Given the description of an element on the screen output the (x, y) to click on. 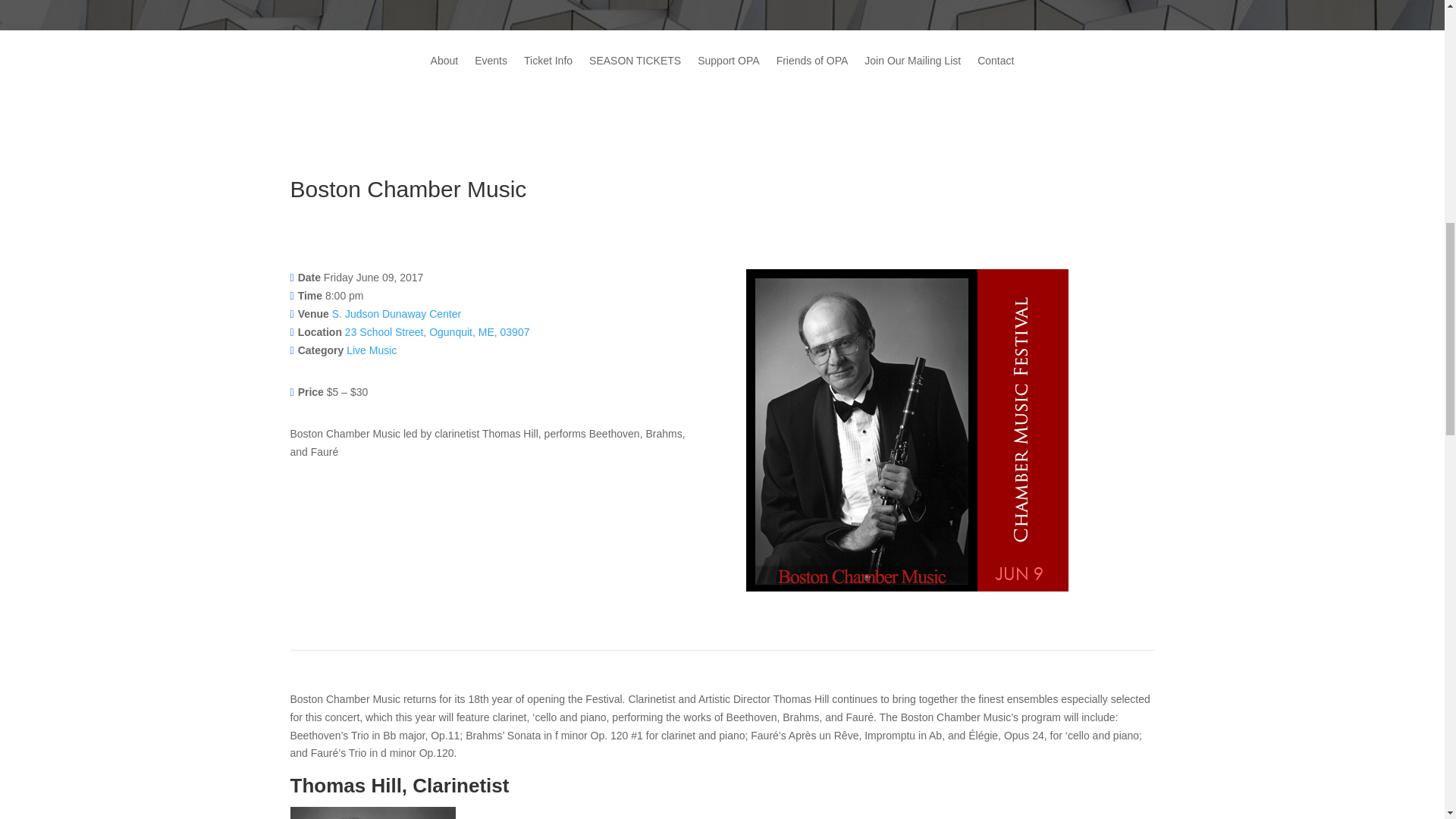
Ticket Info (548, 71)
Join Our Mailing List (912, 71)
Live Music (371, 349)
Contact (994, 71)
SEASON TICKETS (635, 71)
Support OPA (727, 71)
Boston Chamber Music (906, 430)
23 School Street, Ogunquit, ME, 03907 (437, 331)
FareHarbor (1342, 64)
Events (490, 71)
